Given the description of an element on the screen output the (x, y) to click on. 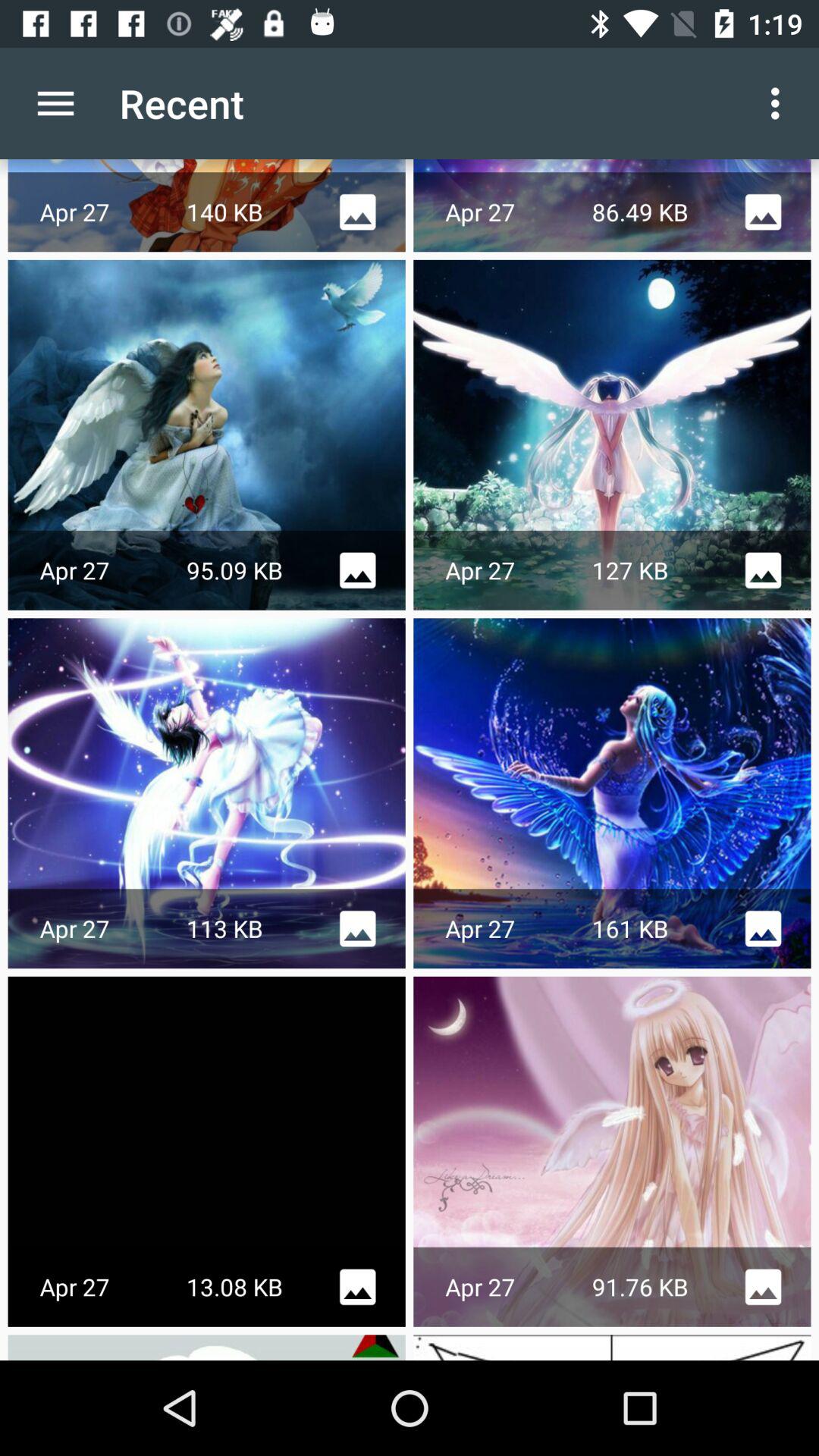
turn on the app to the left of the recent (55, 103)
